Given the description of an element on the screen output the (x, y) to click on. 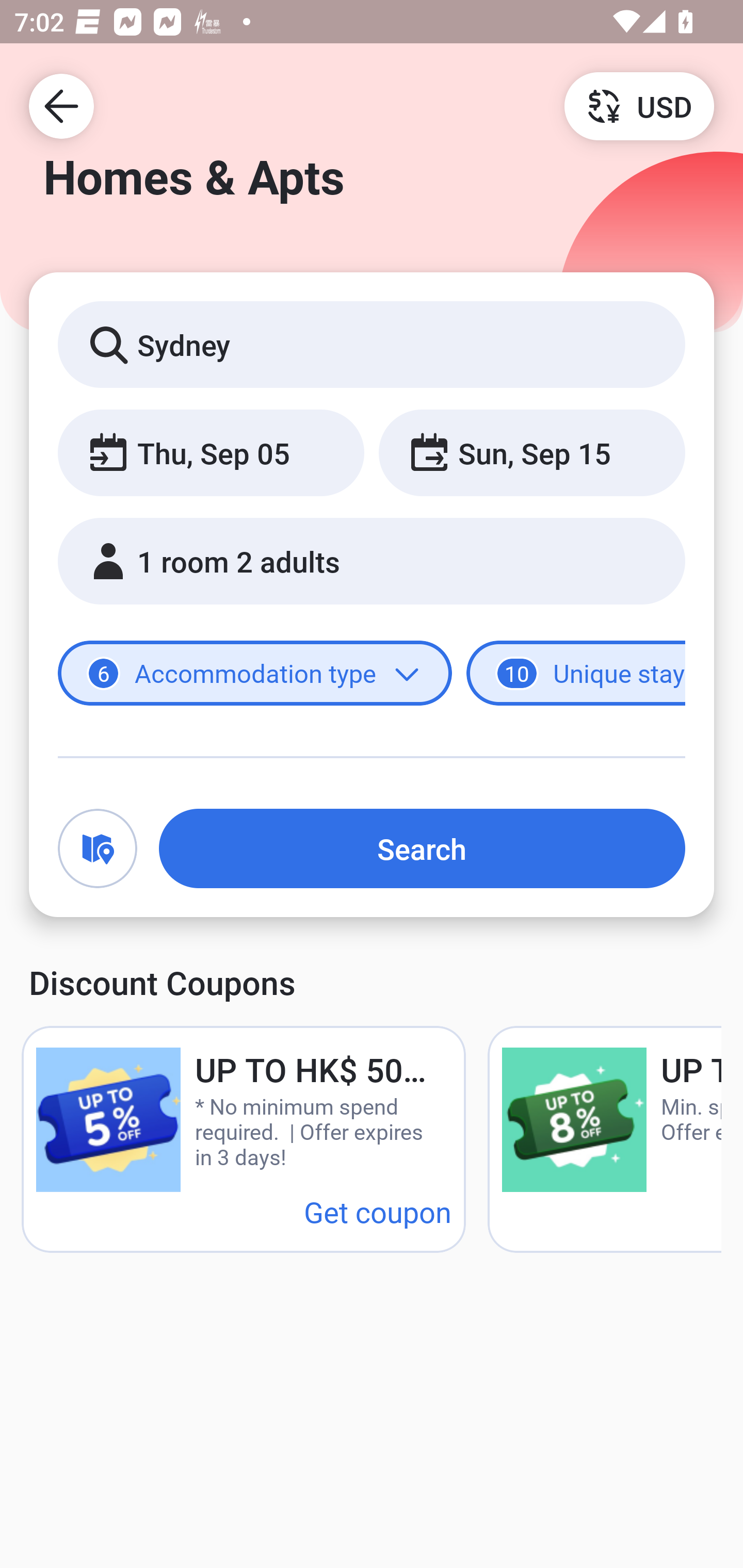
USD (639, 105)
Sydney (371, 344)
Thu, Sep 05 (210, 452)
Sun, Sep 15 (531, 452)
1 room 2 adults (371, 561)
6 Accommodation type (254, 673)
10 Unique stays (575, 673)
Search (422, 848)
Get coupon (377, 1211)
